Given the description of an element on the screen output the (x, y) to click on. 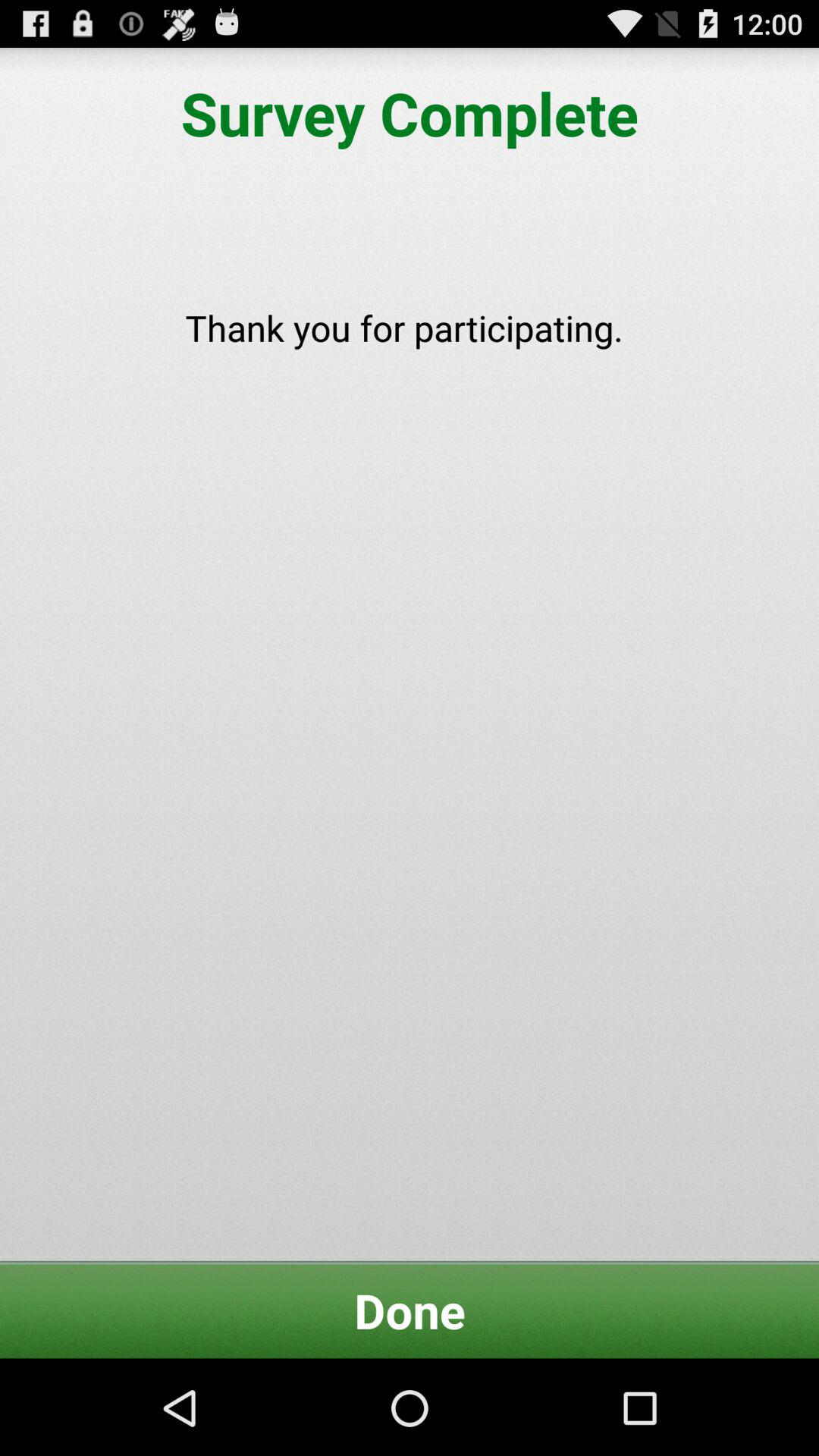
open the item below the thank you for item (409, 1310)
